Given the description of an element on the screen output the (x, y) to click on. 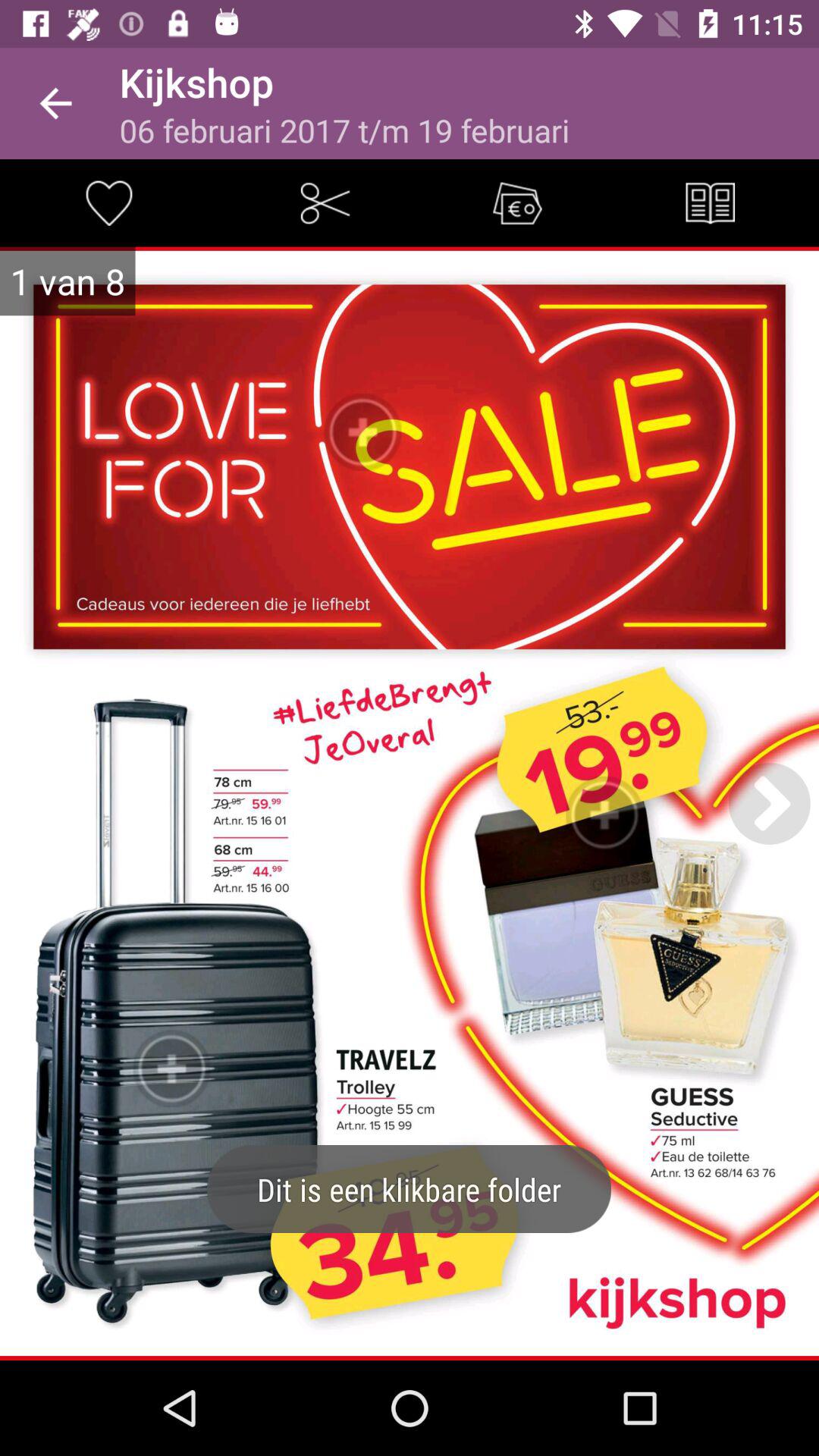
go to next page (769, 803)
